Given the description of an element on the screen output the (x, y) to click on. 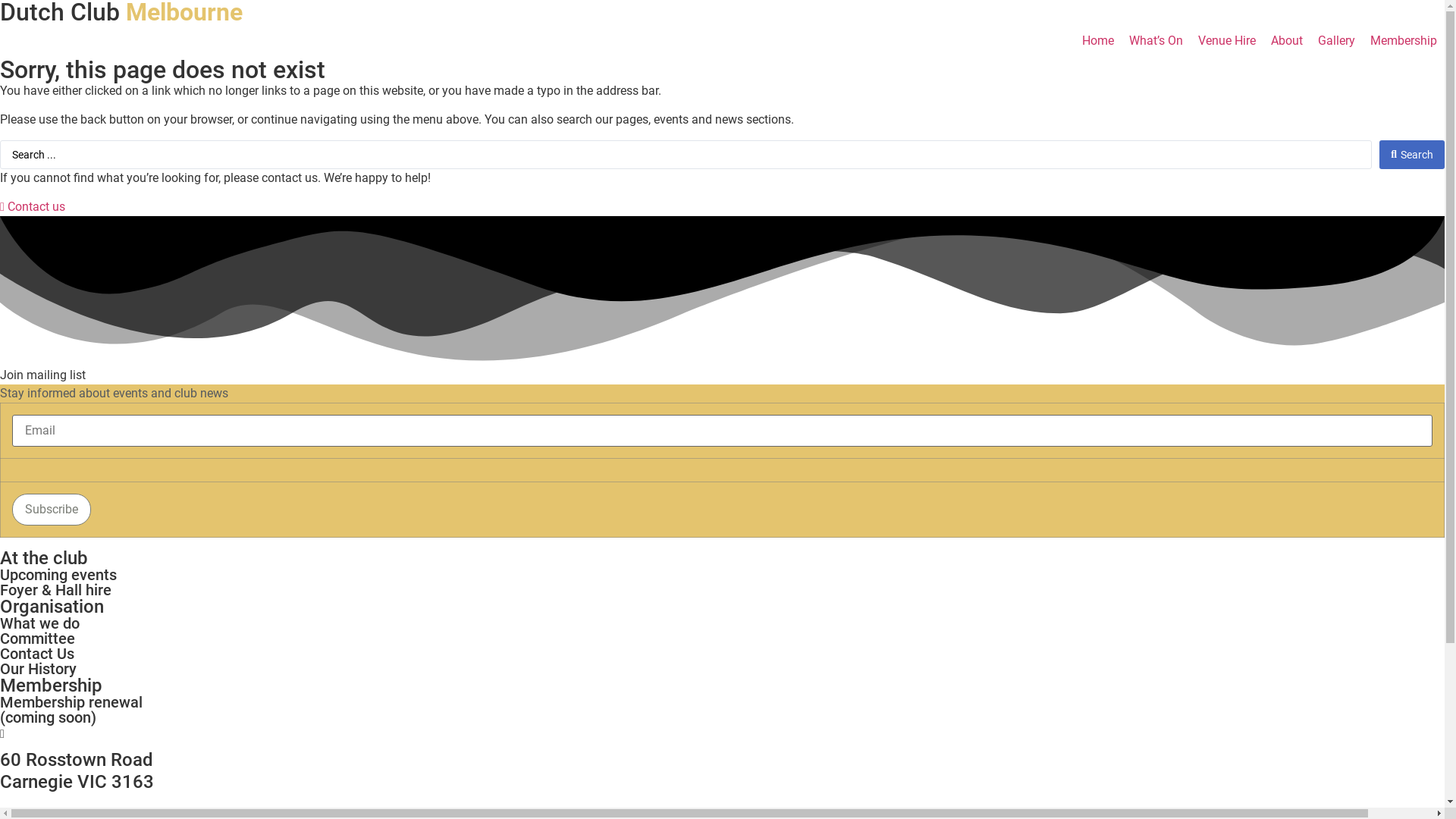
Gallery Element type: text (1336, 40)
Search Element type: text (1411, 154)
Venue Hire Element type: text (1226, 40)
Committee Element type: text (37, 638)
Home Element type: text (1097, 40)
Foyer & Hall hire Element type: text (55, 589)
Membership Element type: text (1403, 40)
What we do Element type: text (39, 623)
About Element type: text (1286, 40)
Upcoming events Element type: text (58, 574)
Contact us Element type: text (32, 206)
Our History Element type: text (38, 668)
Subscribe Element type: text (51, 509)
Contact Us Element type: text (37, 653)
